Given the description of an element on the screen output the (x, y) to click on. 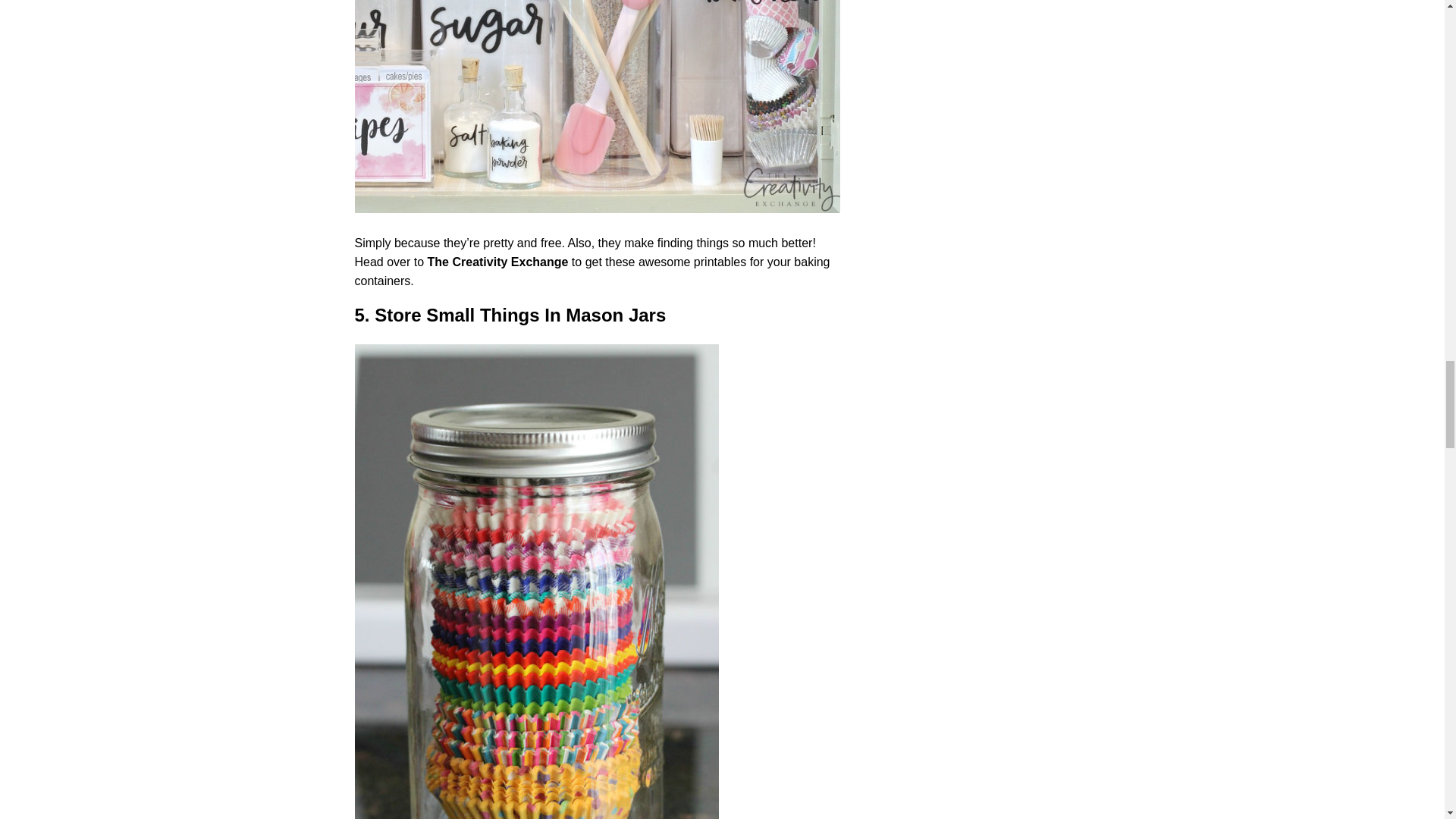
The Creativity Exchange (498, 261)
